Given the description of an element on the screen output the (x, y) to click on. 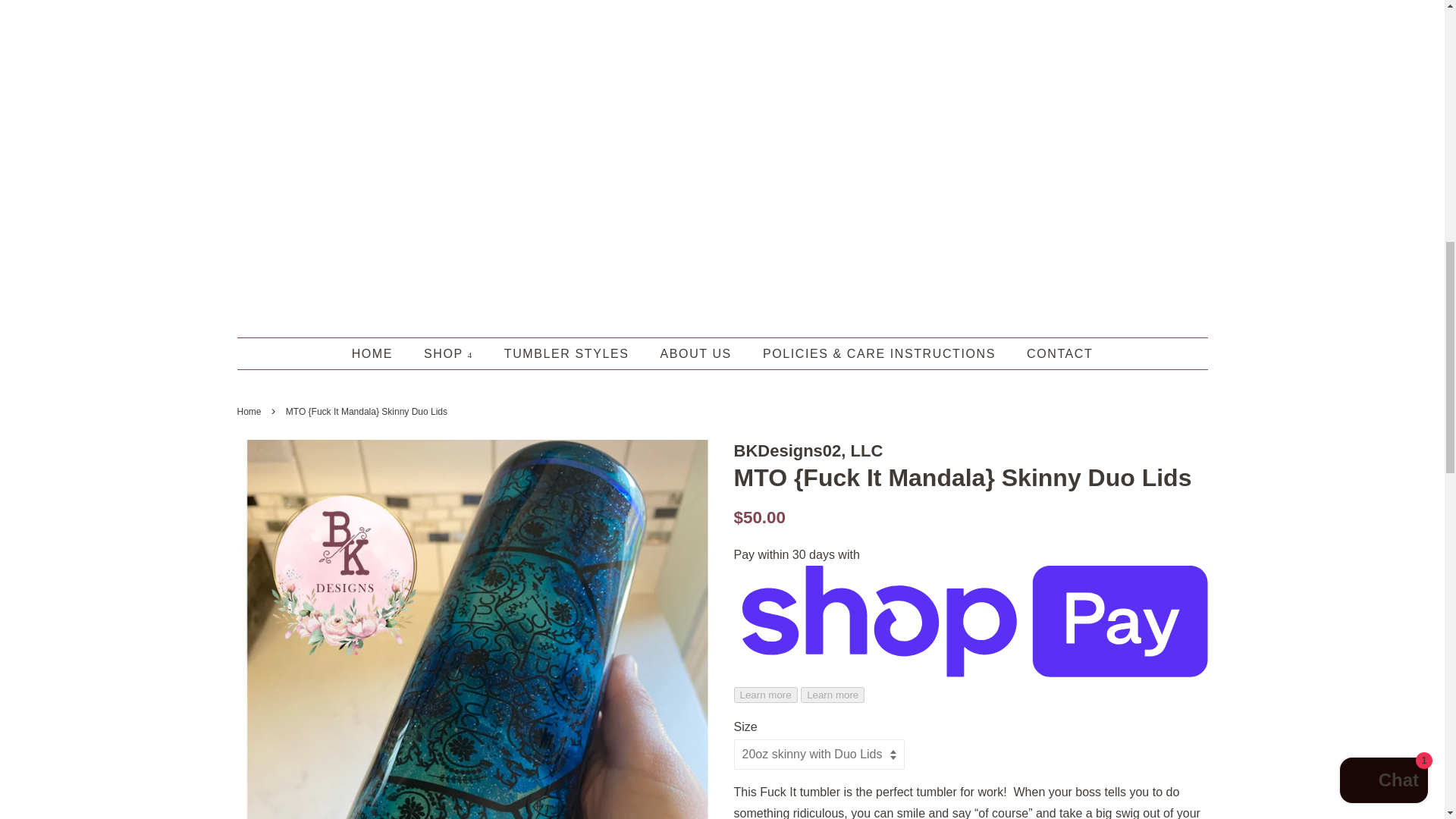
TUMBLER STYLES (569, 353)
SHOP (449, 353)
Back to the frontpage (249, 411)
HOME (379, 353)
ABOUT US (697, 353)
